Given the description of an element on the screen output the (x, y) to click on. 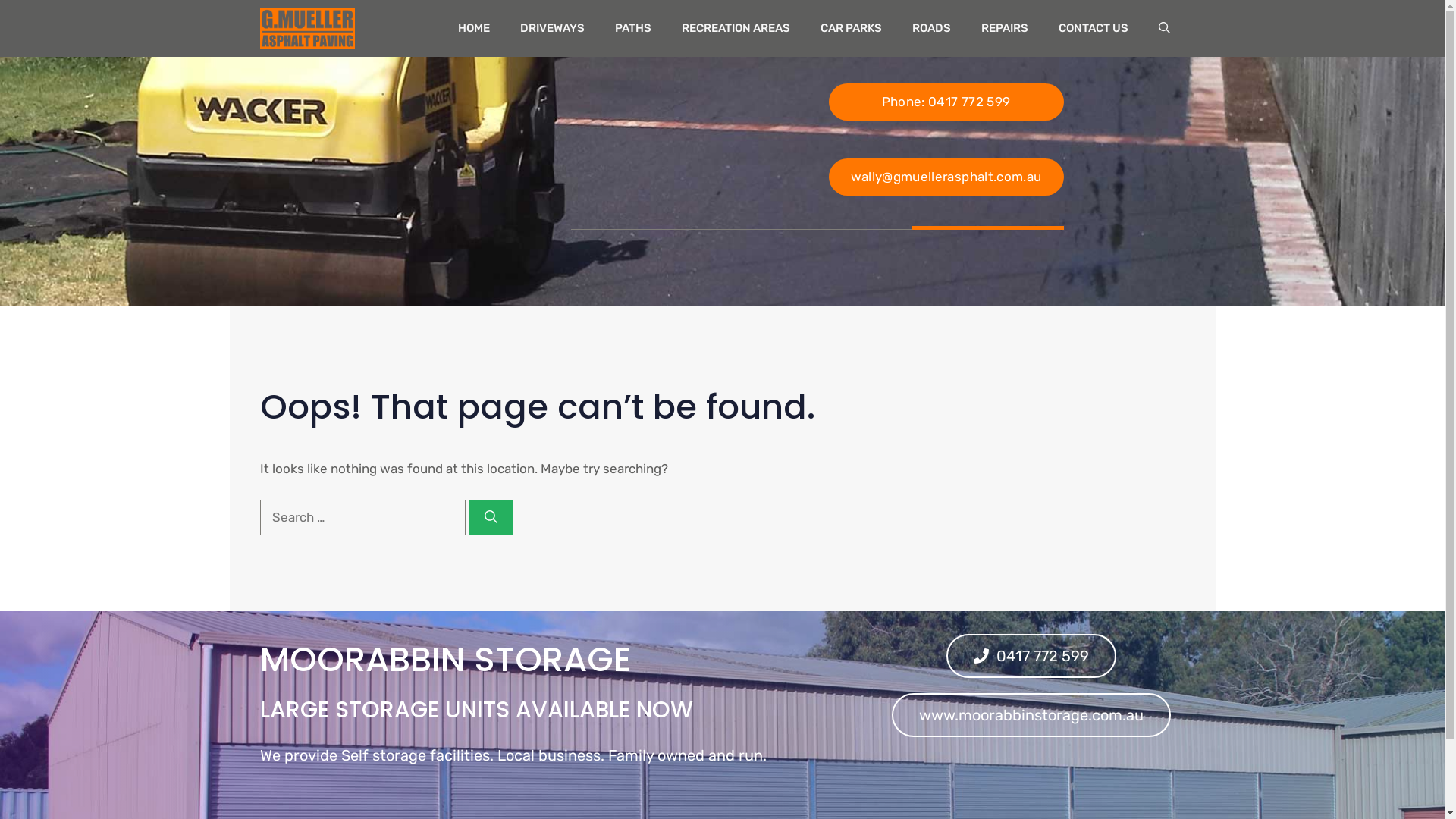
G.MUELLER ASPHALT PAVING Element type: hover (306, 28)
CONTACT US Element type: text (1093, 28)
RECREATION AREAS Element type: text (734, 28)
Phone: 0417 772 599 Element type: text (945, 101)
CAR PARKS Element type: text (851, 28)
REPAIRS Element type: text (1004, 28)
PATHS Element type: text (632, 28)
ROADS Element type: text (930, 28)
0417 772 599 Element type: text (1031, 655)
HOME Element type: text (473, 28)
MOORABBIN STORAGE Element type: text (444, 659)
Search for: Element type: hover (361, 517)
www.moorabbinstorage.com.au Element type: text (1030, 715)
DRIVEWAYS Element type: text (552, 28)
wally@gmuellerasphalt.com.au Element type: text (945, 176)
